Given the description of an element on the screen output the (x, y) to click on. 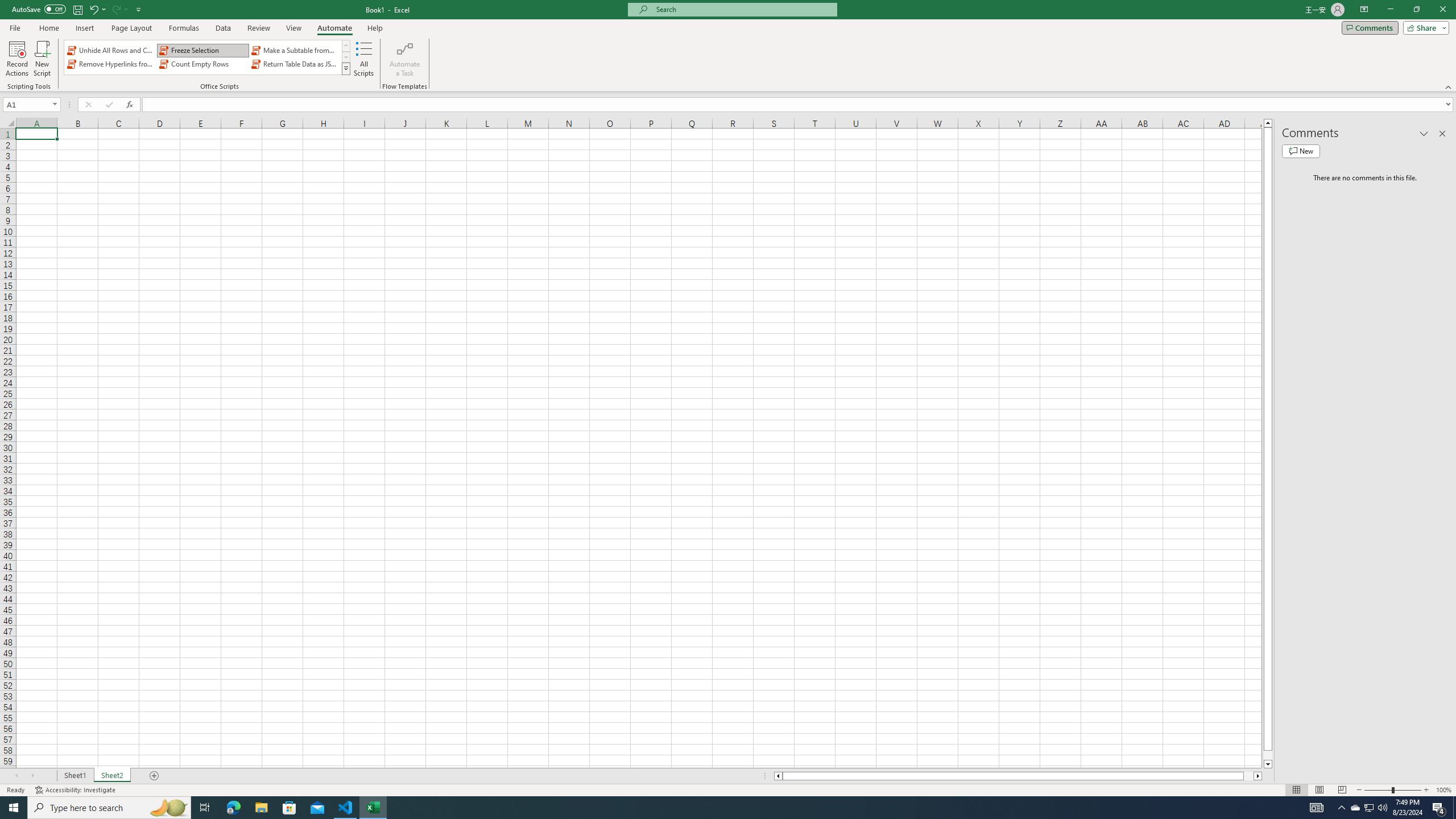
Accessibility Checker Accessibility: Investigate (76, 790)
New Script (41, 58)
Make a Subtable from a Selection (294, 50)
